Given the description of an element on the screen output the (x, y) to click on. 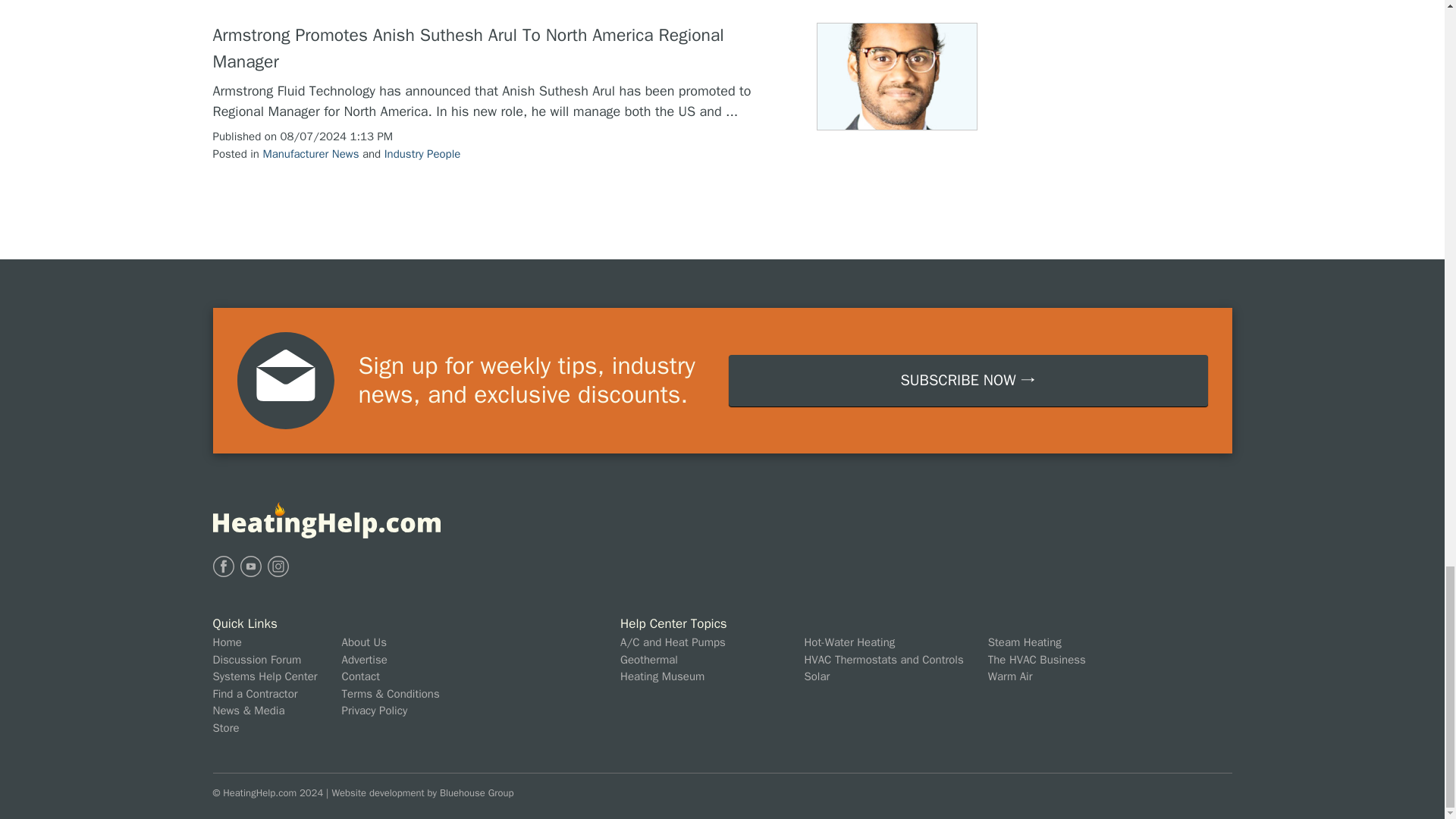
Industry People (422, 153)
Manufacturer News (310, 153)
